Given the description of an element on the screen output the (x, y) to click on. 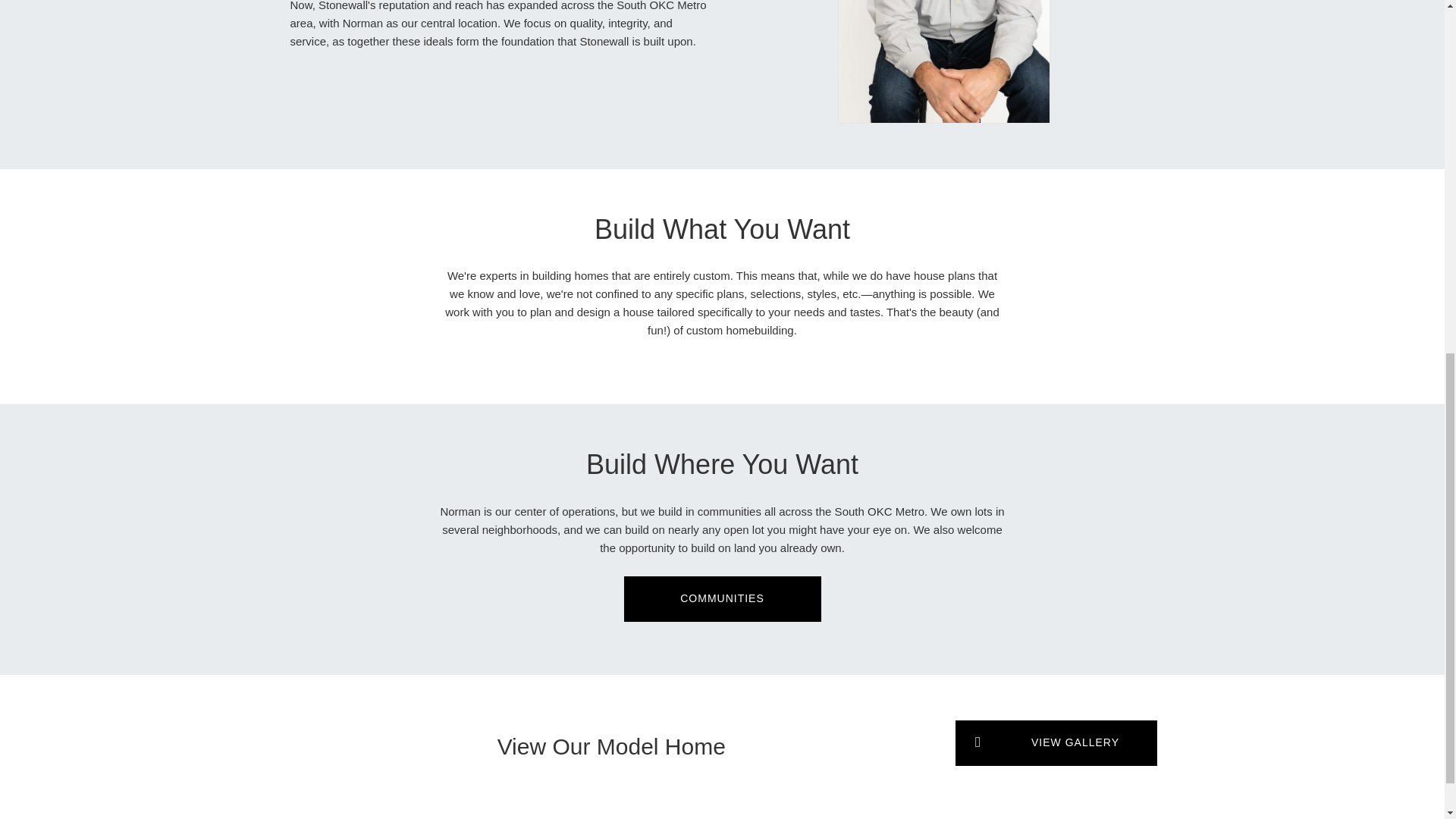
COMMUNITIES (722, 598)
VIEW GALLERY (1056, 742)
